Given the description of an element on the screen output the (x, y) to click on. 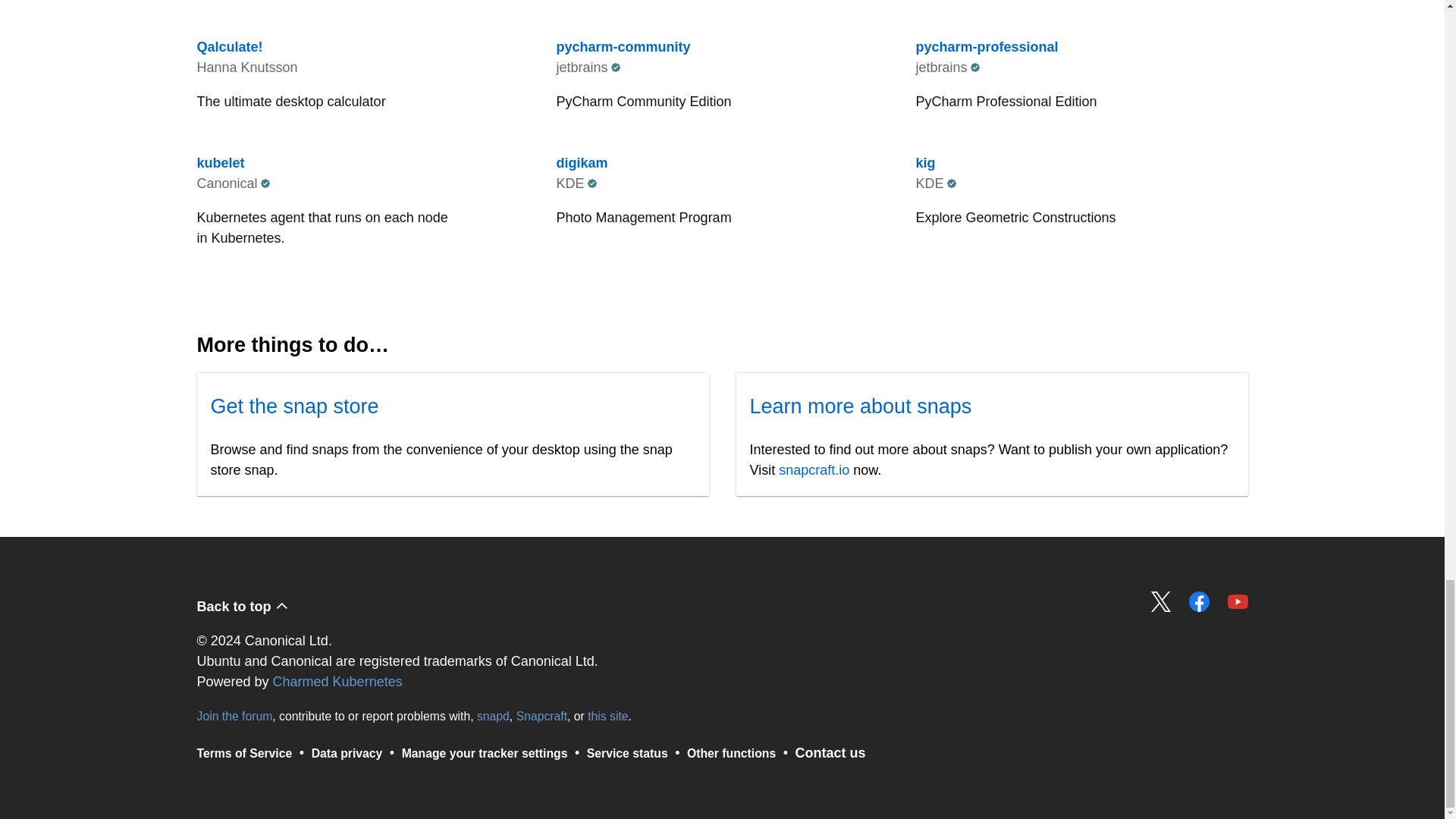
Share on Facebook (1199, 601)
Get the snap store (294, 405)
snapd (493, 716)
Manage your tracker settings (1081, 5)
Charmed Kubernetes (722, 5)
Share on Twitter (484, 752)
Learn more about snaps (338, 681)
Service status (722, 195)
Back to top (1161, 601)
this site (860, 405)
